Given the description of an element on the screen output the (x, y) to click on. 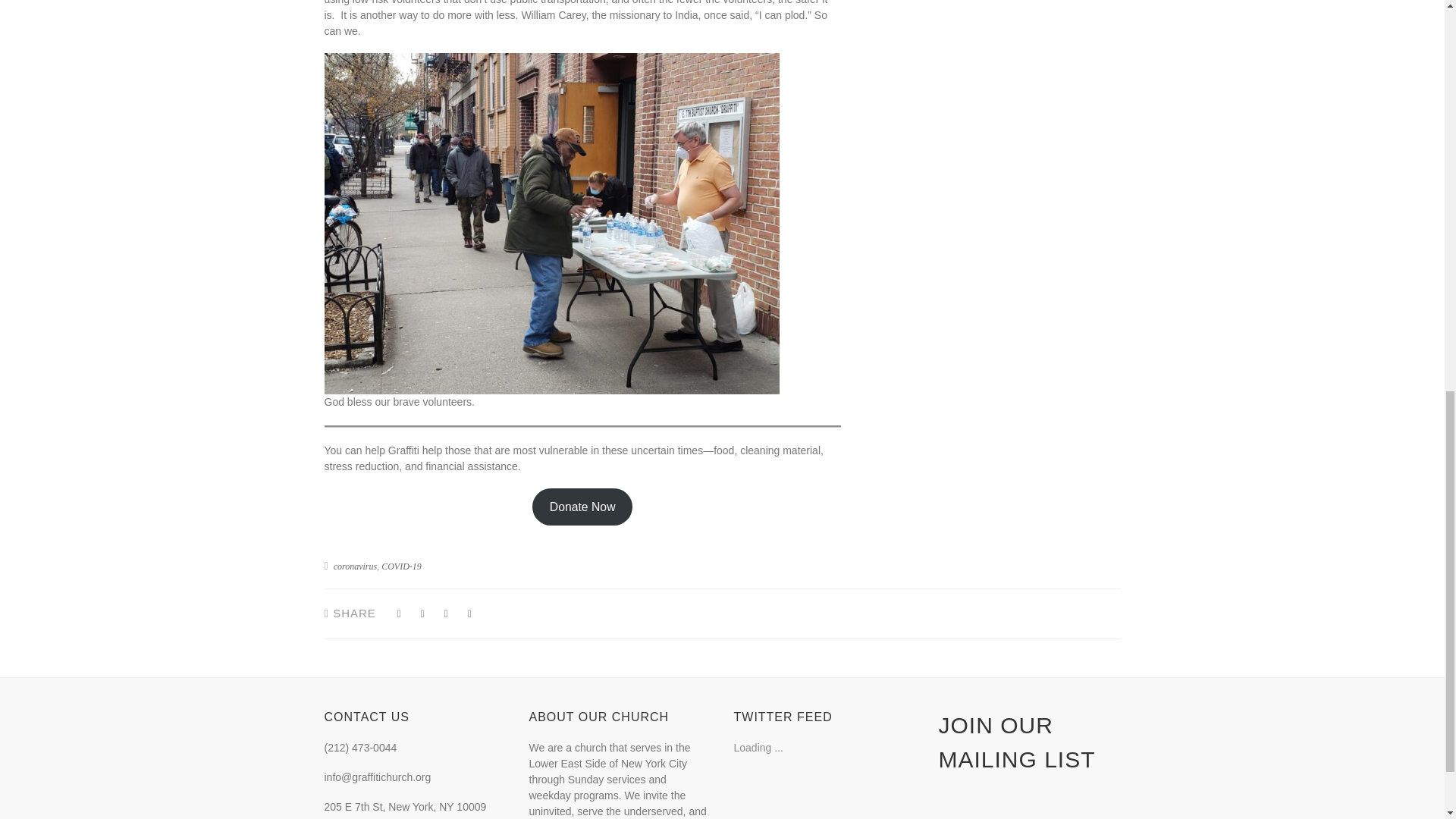
Share on Facebook (399, 613)
coronavirus (355, 566)
Share on Facebook (445, 613)
Tweet (422, 613)
Email (469, 613)
COVID-19 (401, 566)
Donate Now (582, 506)
